Given the description of an element on the screen output the (x, y) to click on. 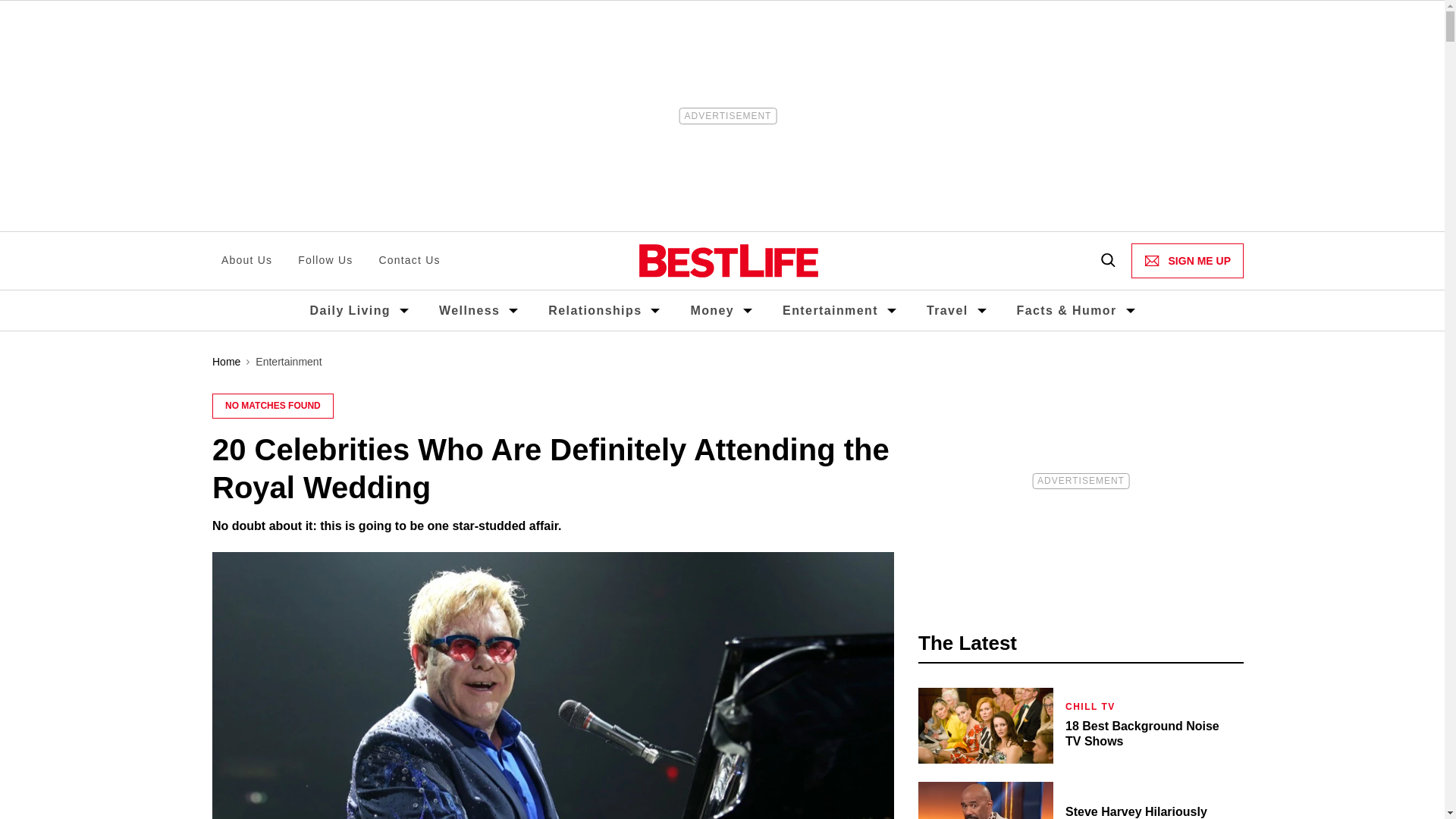
Money (711, 309)
Open Search (1106, 260)
Relationships (595, 309)
Travel (947, 309)
Daily Living (349, 309)
SIGN ME UP (1187, 260)
About Us (246, 260)
Contact Us (408, 260)
Open Search (1106, 260)
